Given the description of an element on the screen output the (x, y) to click on. 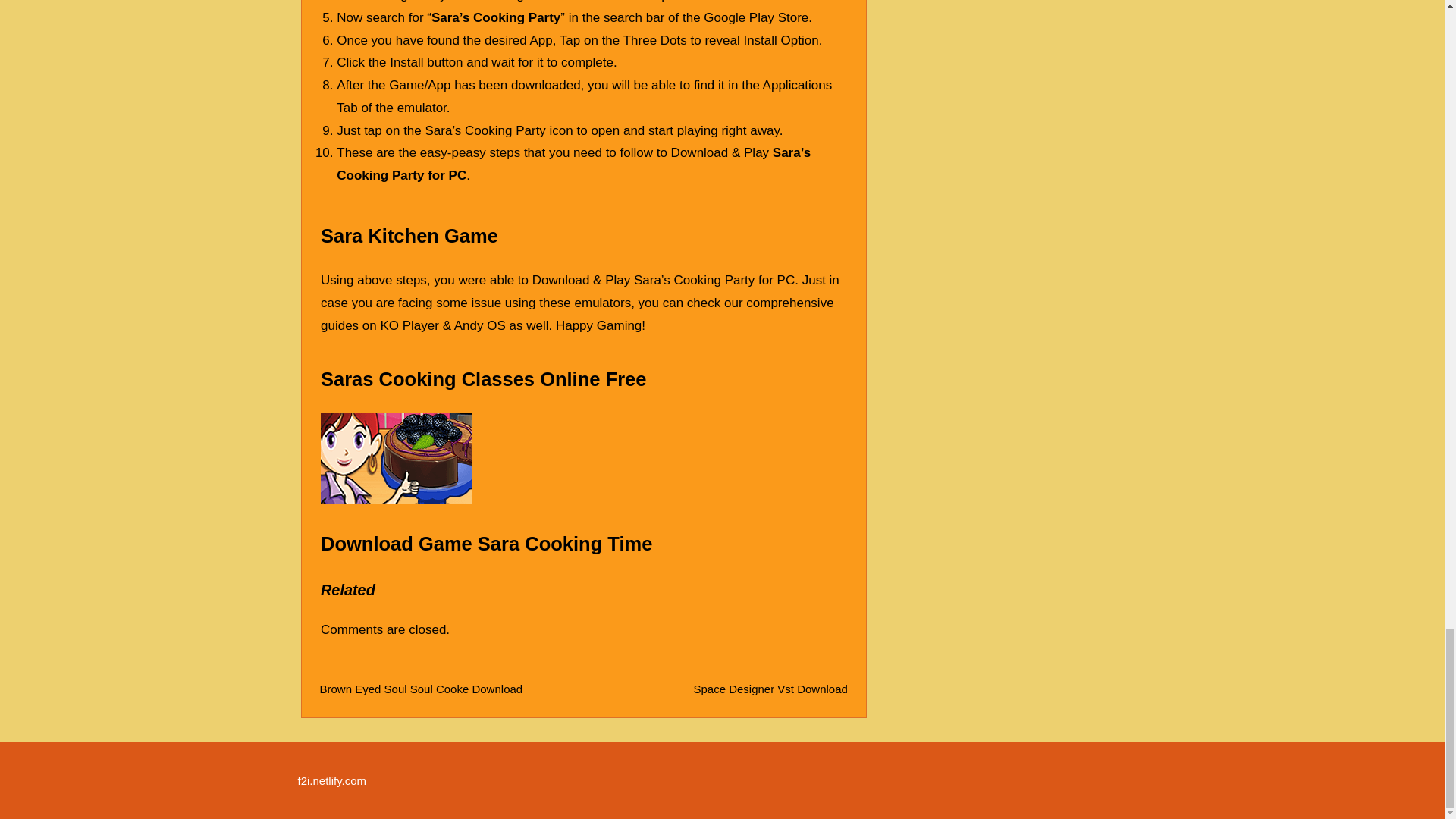
Brown Eyed Soul Soul Cooke Download (421, 688)
Space Designer Vst Download (770, 688)
Comments are closed. (384, 629)
f2i.netlify.com (331, 780)
f2i.netlify.com (331, 780)
Cooking (395, 457)
